Given the description of an element on the screen output the (x, y) to click on. 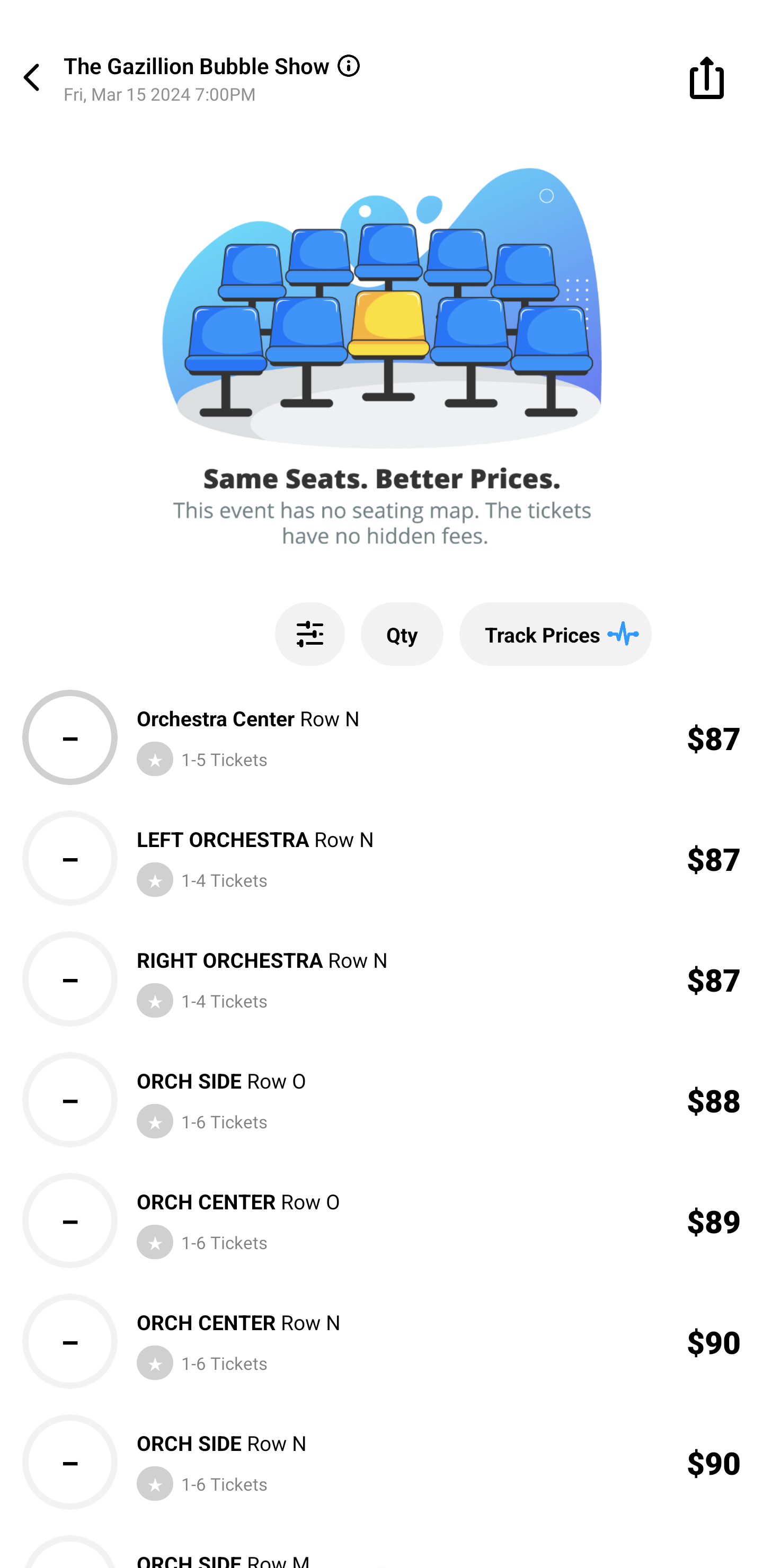
Qty (401, 634)
Track Prices (555, 634)
